Given the description of an element on the screen output the (x, y) to click on. 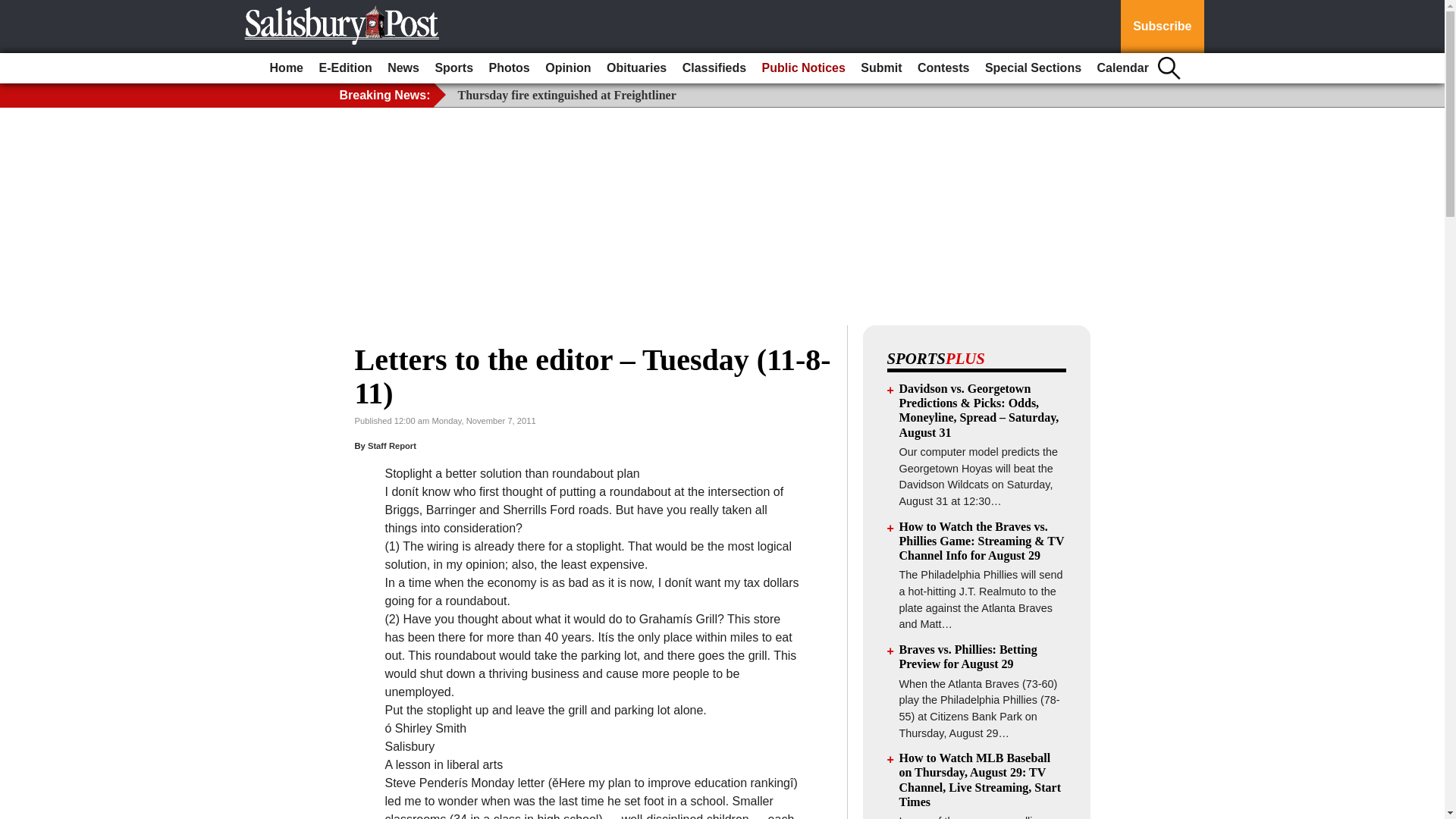
Home (285, 68)
Sports (453, 68)
Subscribe (1162, 26)
Thursday fire extinguished at Freightliner (567, 94)
Submit (880, 68)
Classifieds (714, 68)
Contests (943, 68)
Opinion (567, 68)
E-Edition (345, 68)
Obituaries (635, 68)
